Given the description of an element on the screen output the (x, y) to click on. 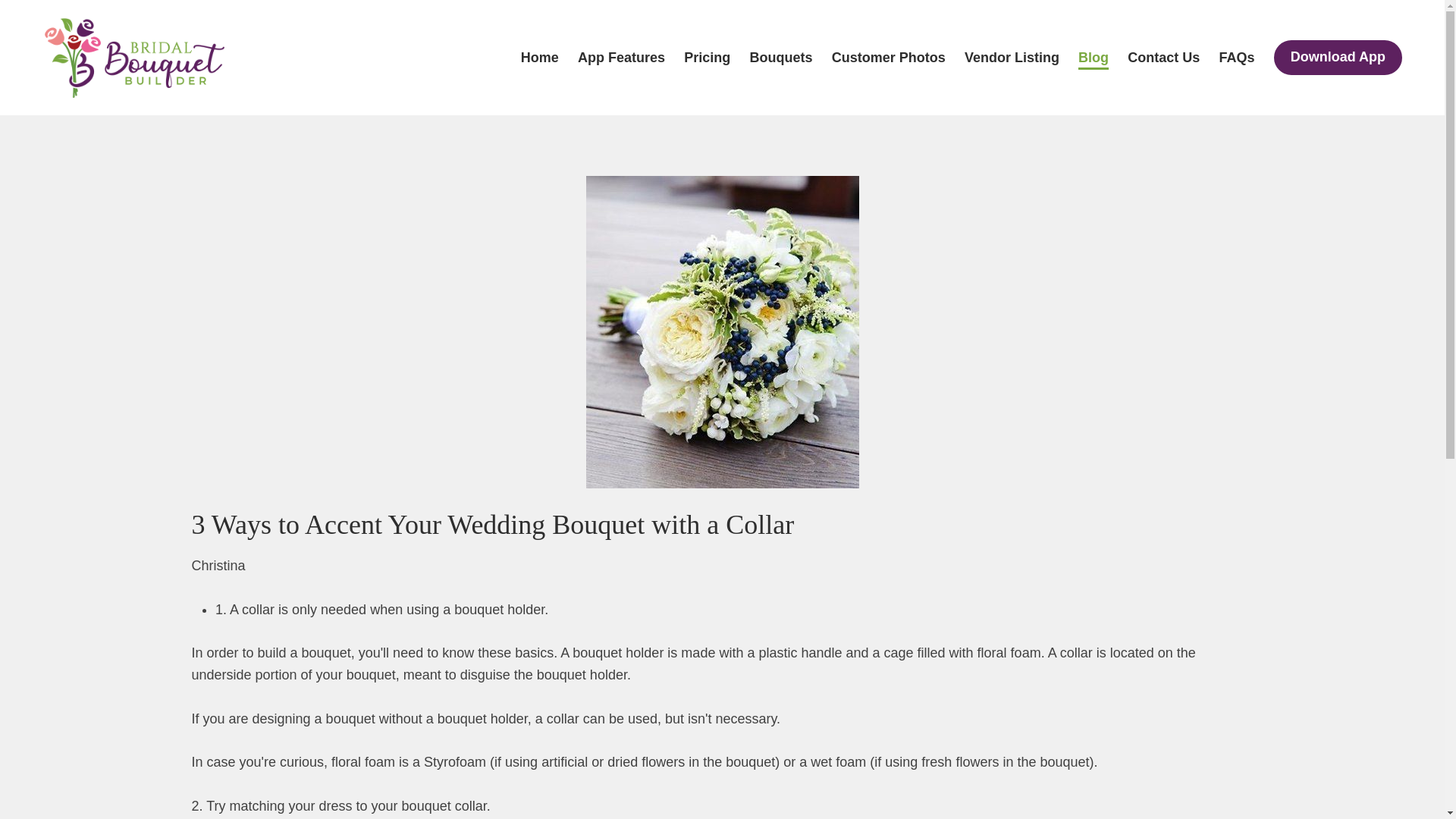
FAQs (1235, 56)
Contact Us (1162, 56)
Blog (1093, 56)
Download App (1338, 57)
Pricing (707, 56)
Customer Photos (887, 56)
App Features (621, 56)
Home (540, 56)
Vendor Listing (1011, 56)
Bridal Bouquet Builder (134, 57)
